Given the description of an element on the screen output the (x, y) to click on. 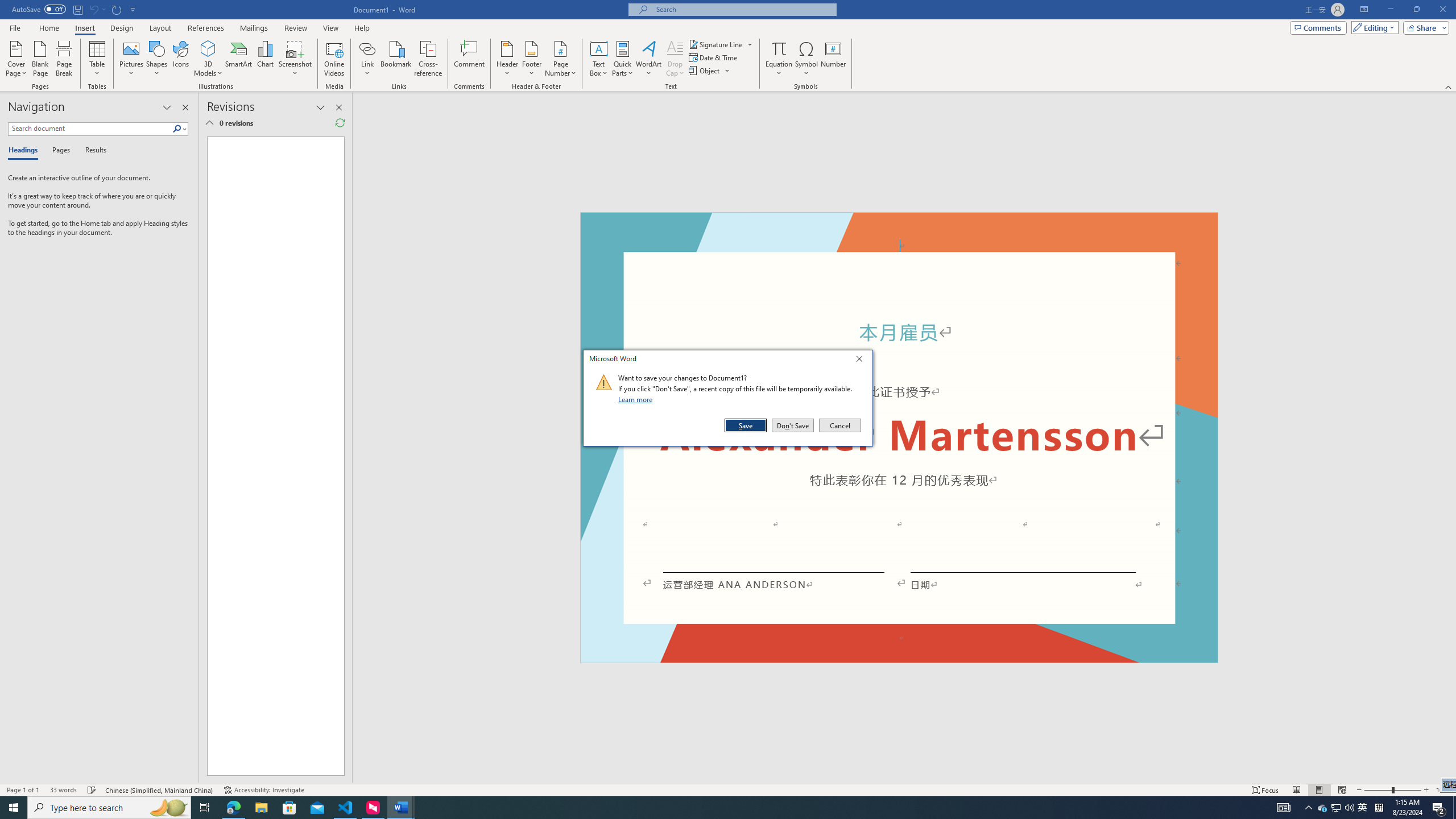
Shapes (156, 58)
Screenshot (295, 58)
Chart... (265, 58)
Page Number (560, 58)
WordArt (648, 58)
